Given the description of an element on the screen output the (x, y) to click on. 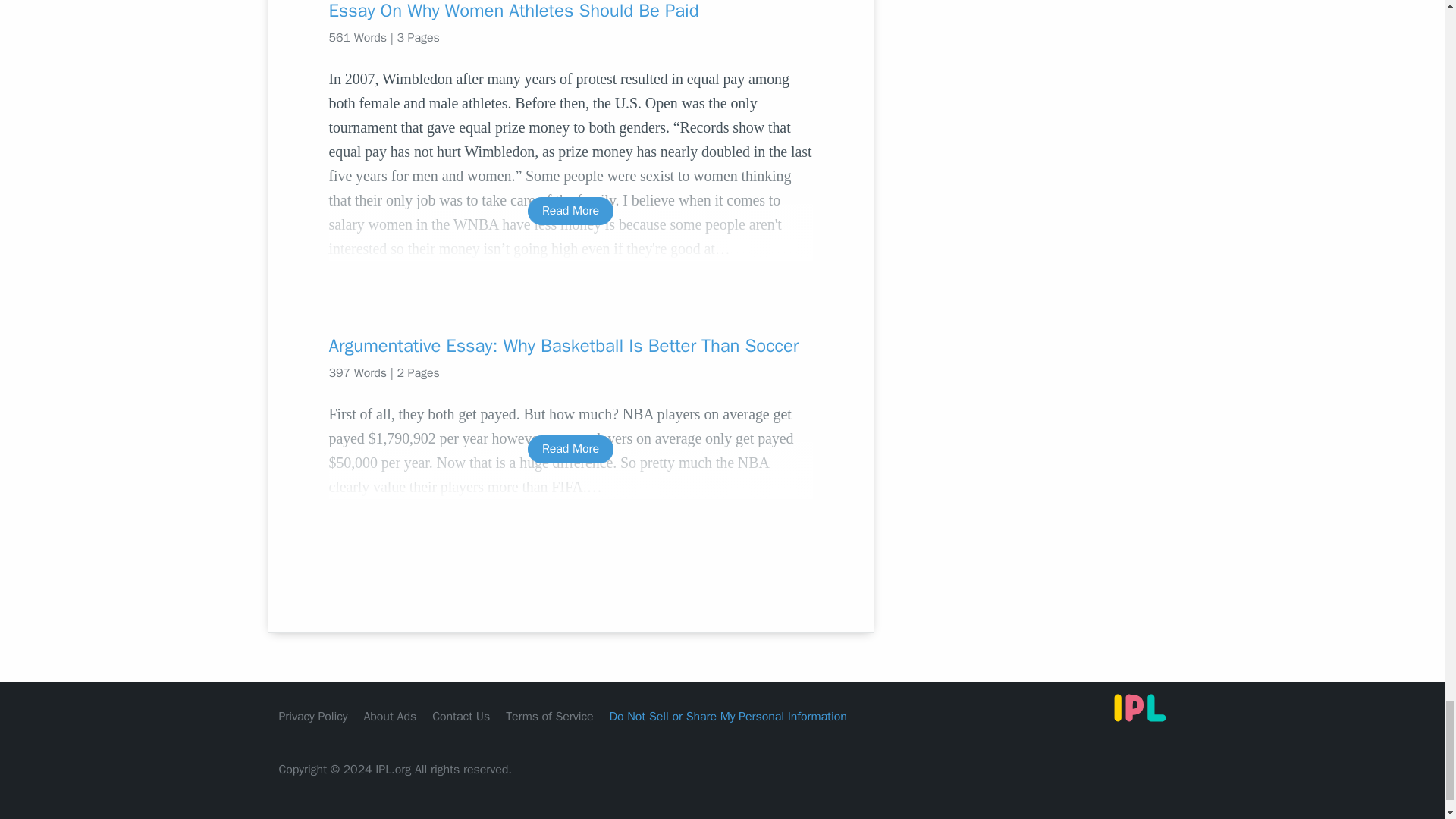
Privacy Policy (313, 716)
Terms of Service (548, 716)
About Ads (389, 716)
Contact Us (460, 716)
